Given the description of an element on the screen output the (x, y) to click on. 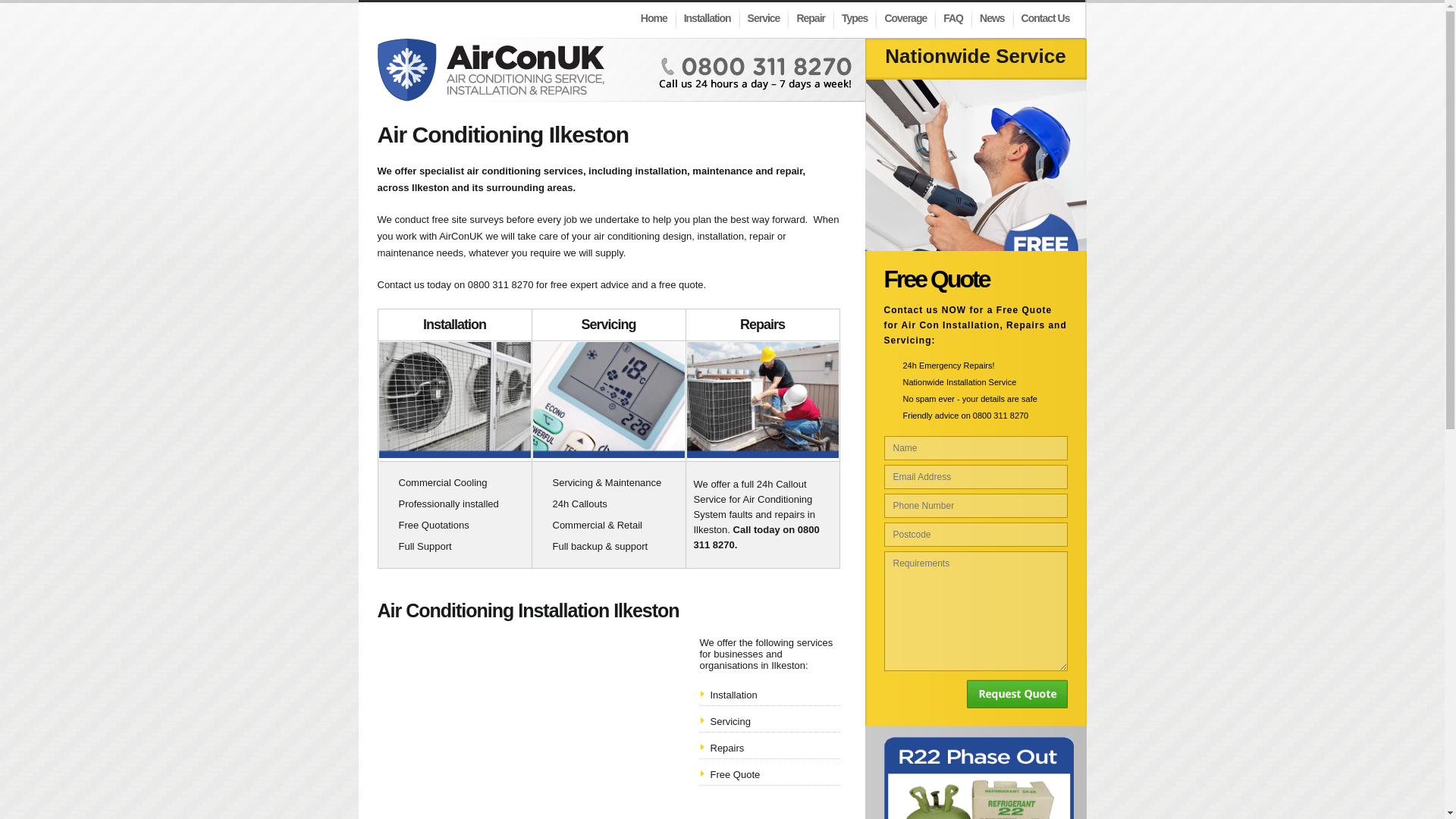
Home (655, 17)
Contact Us (1045, 17)
Free Quote (735, 774)
FAQ (954, 17)
Service (764, 17)
Repairs (727, 747)
News (992, 17)
Installation (708, 17)
Repair (811, 17)
Servicing (729, 721)
Types (855, 17)
Installation (733, 695)
Coverage (906, 17)
